Given the description of an element on the screen output the (x, y) to click on. 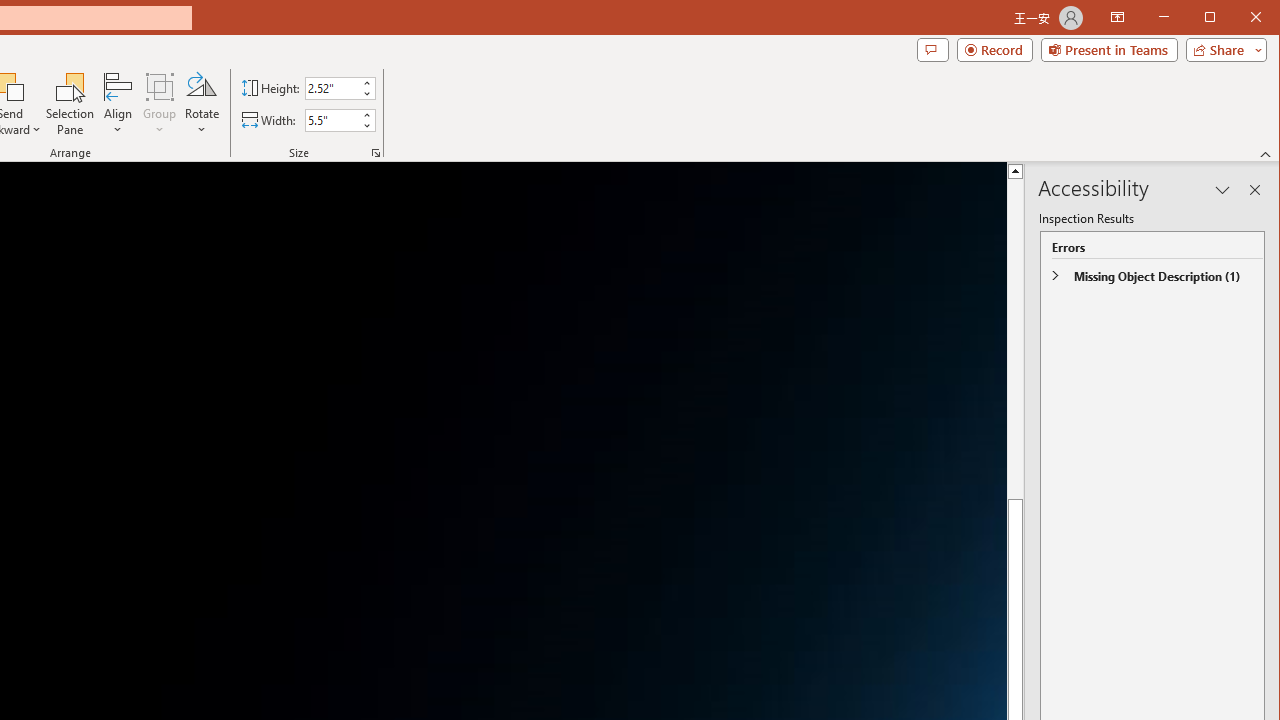
Size and Position... (376, 152)
Align (118, 104)
Rotate (201, 104)
Selection Pane... (70, 104)
